Given the description of an element on the screen output the (x, y) to click on. 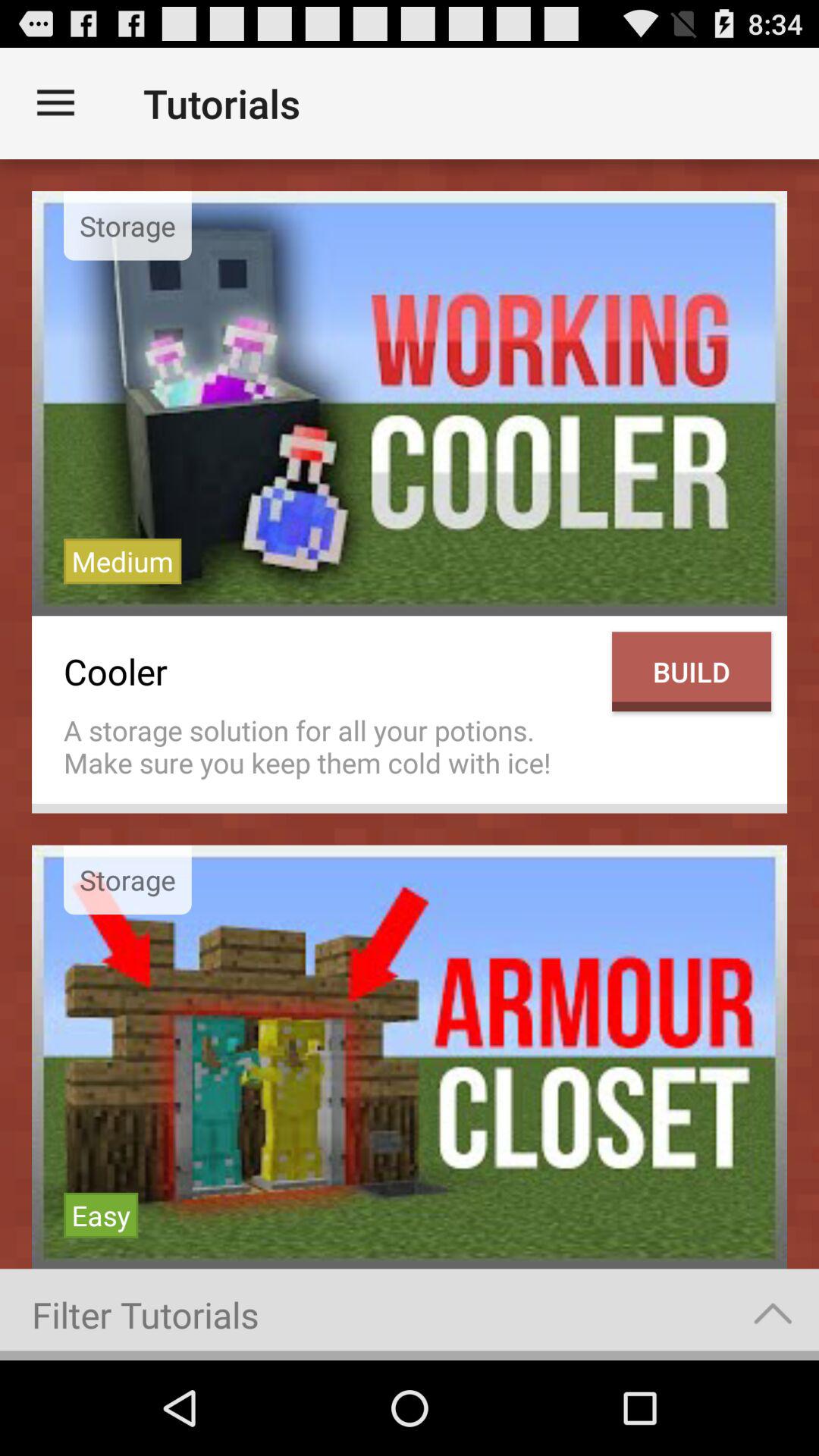
scroll until cooler icon (329, 671)
